Given the description of an element on the screen output the (x, y) to click on. 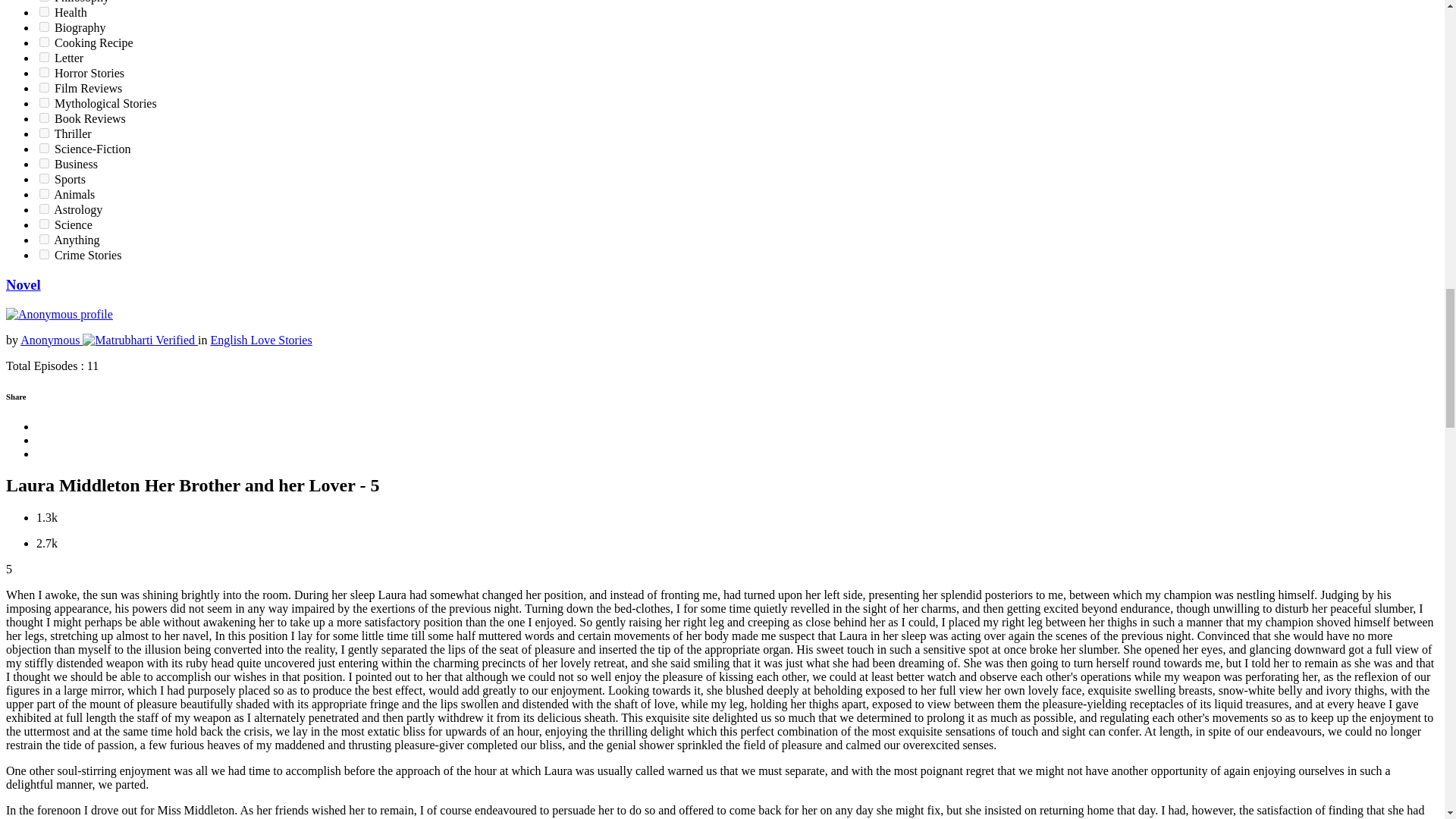
Anonymous profile (59, 314)
on (44, 11)
